Given the description of an element on the screen output the (x, y) to click on. 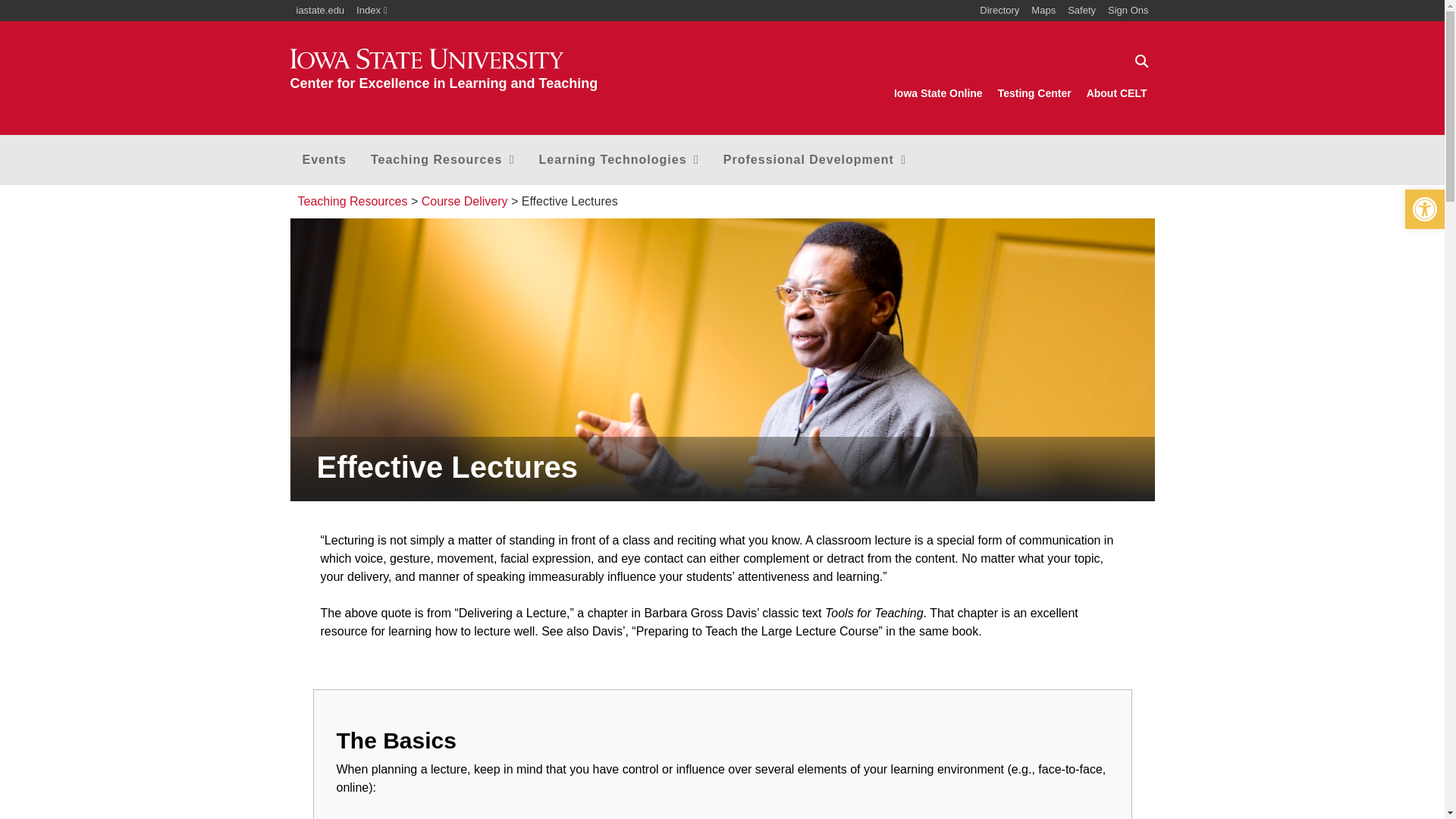
Go to Course Delivery. (465, 201)
Directory (999, 10)
Accessibility Tools (1424, 209)
Search (1141, 61)
Maps (1043, 10)
iastate.edu (319, 10)
Go to Teaching Resources. (352, 201)
Home (442, 69)
Index (371, 10)
